Given the description of an element on the screen output the (x, y) to click on. 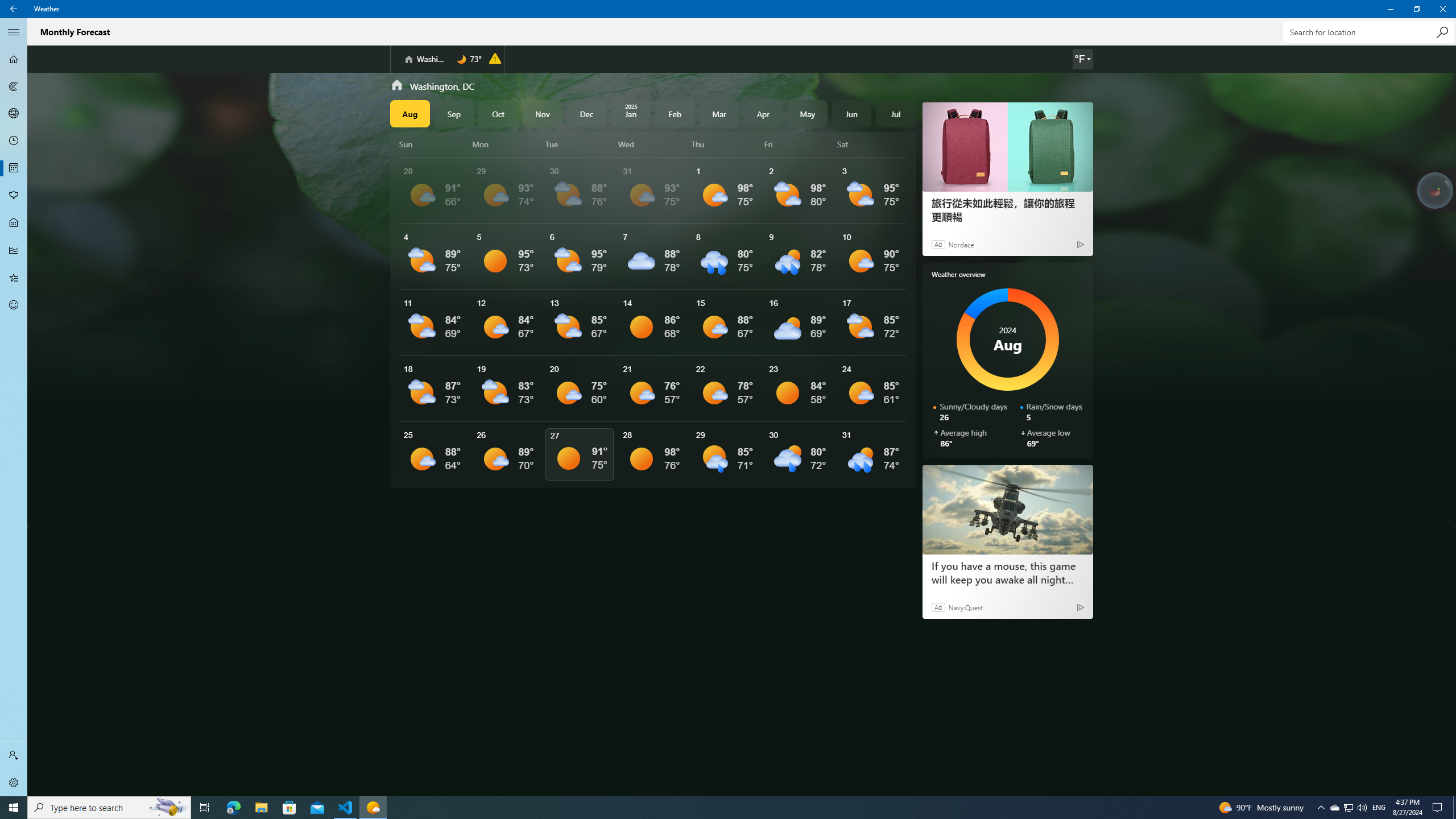
Restore Weather (1416, 9)
3D Maps - Not Selected (13, 113)
Maps - Not Selected (13, 85)
Minimize Weather (1390, 9)
Weather - 1 running window (373, 807)
3D Maps - Not Selected (13, 113)
Settings (13, 782)
Search for location (1367, 32)
Hourly Forecast - Not Selected (13, 140)
